Given the description of an element on the screen output the (x, y) to click on. 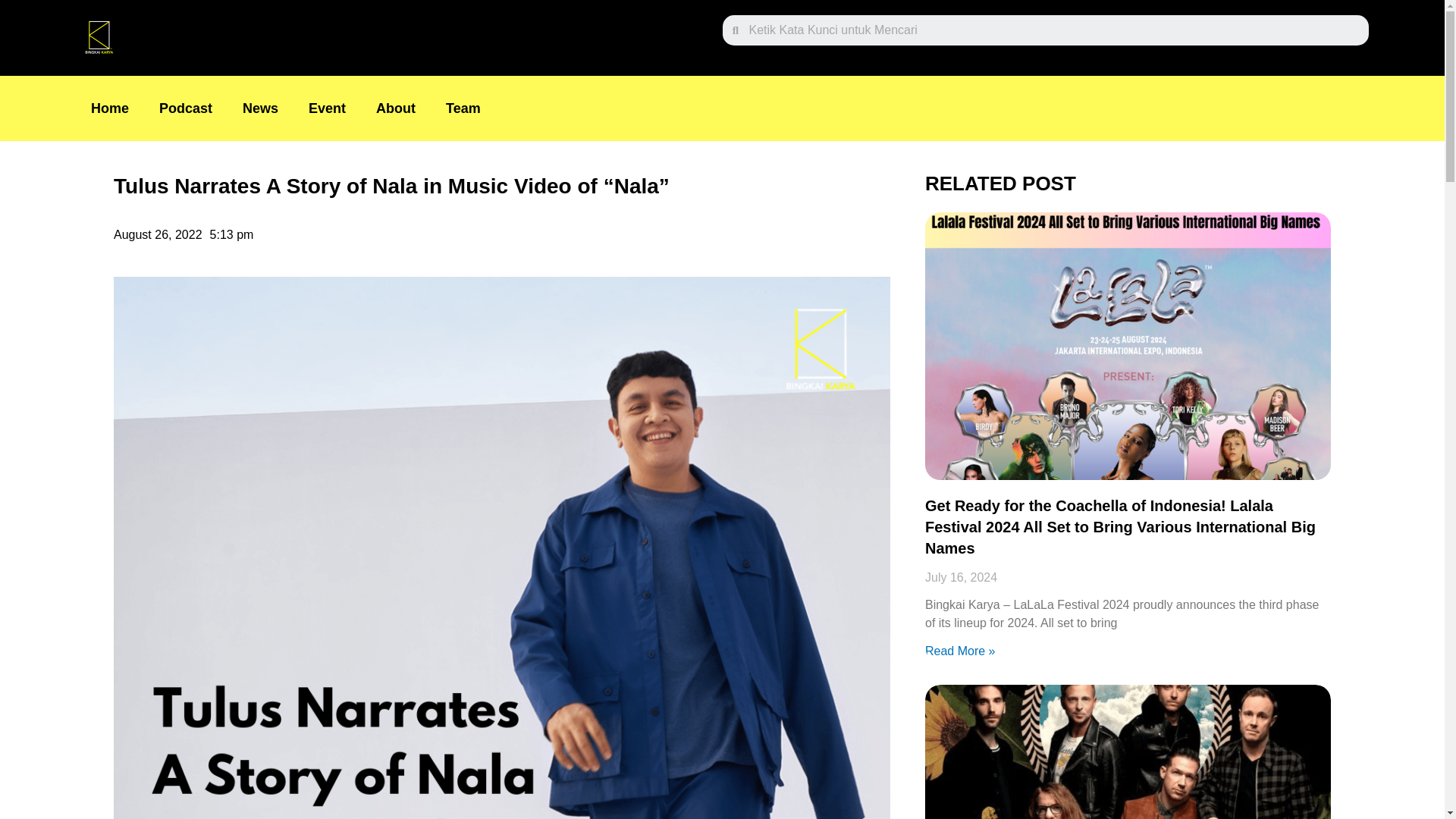
Team (463, 108)
Bingkai Karya Logo (97, 37)
Search (1053, 30)
Home (109, 108)
Podcast (185, 108)
Event (327, 108)
News (260, 108)
About (395, 108)
